Given the description of an element on the screen output the (x, y) to click on. 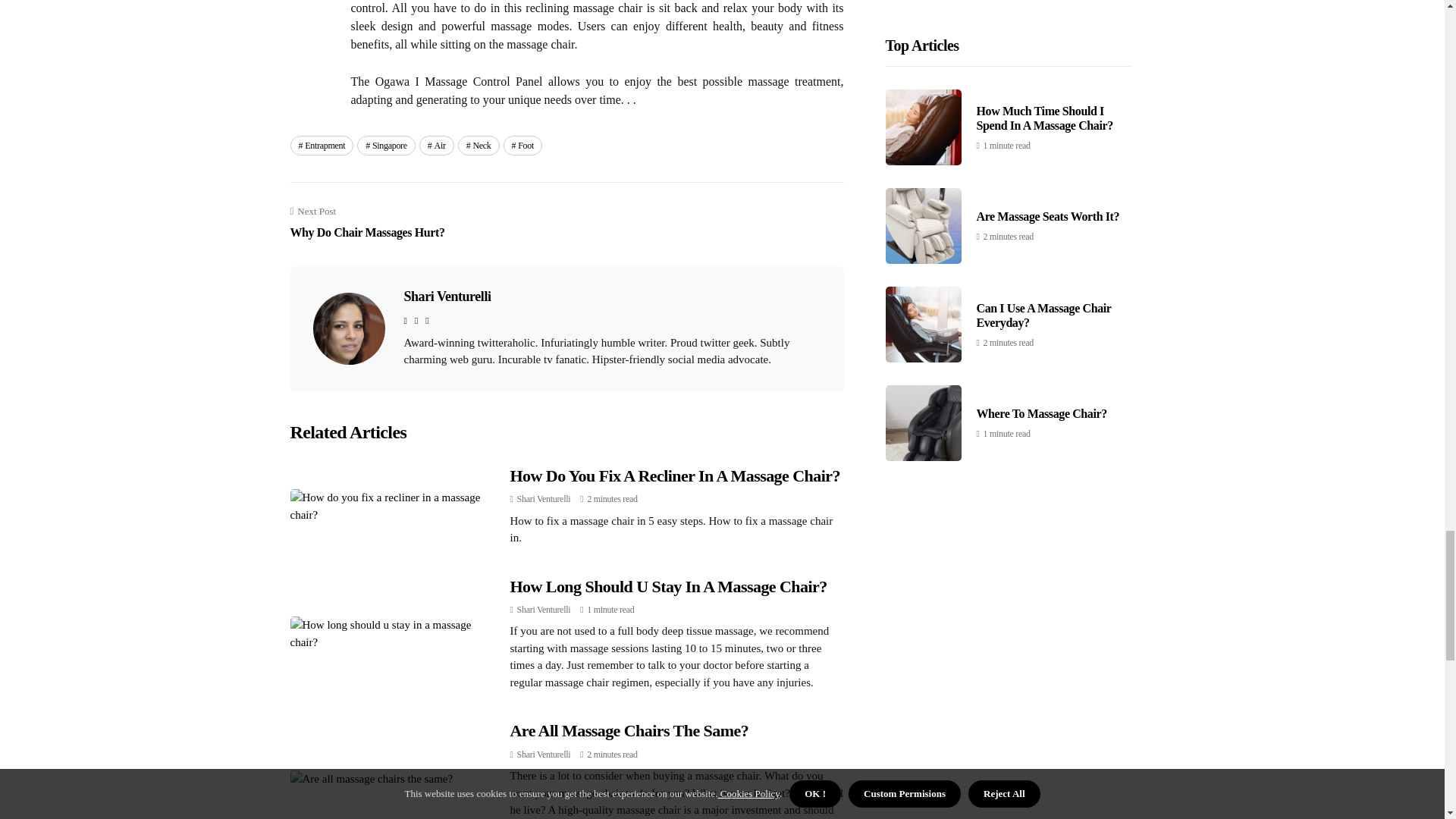
Are All Massage Chairs The Same? (628, 730)
Shari Venturelli (446, 296)
Posts by Shari Venturelli (543, 498)
Air (436, 145)
How Long Should U Stay In A Massage Chair? (668, 586)
Posts by Shari Venturelli (543, 754)
Posts by Shari Venturelli (543, 609)
Shari Venturelli (543, 754)
Singapore (385, 145)
Shari Venturelli (543, 609)
Neck (478, 145)
Foot (523, 145)
How Do You Fix A Recliner In A Massage Chair? (366, 222)
Shari Venturelli (674, 475)
